Given the description of an element on the screen output the (x, y) to click on. 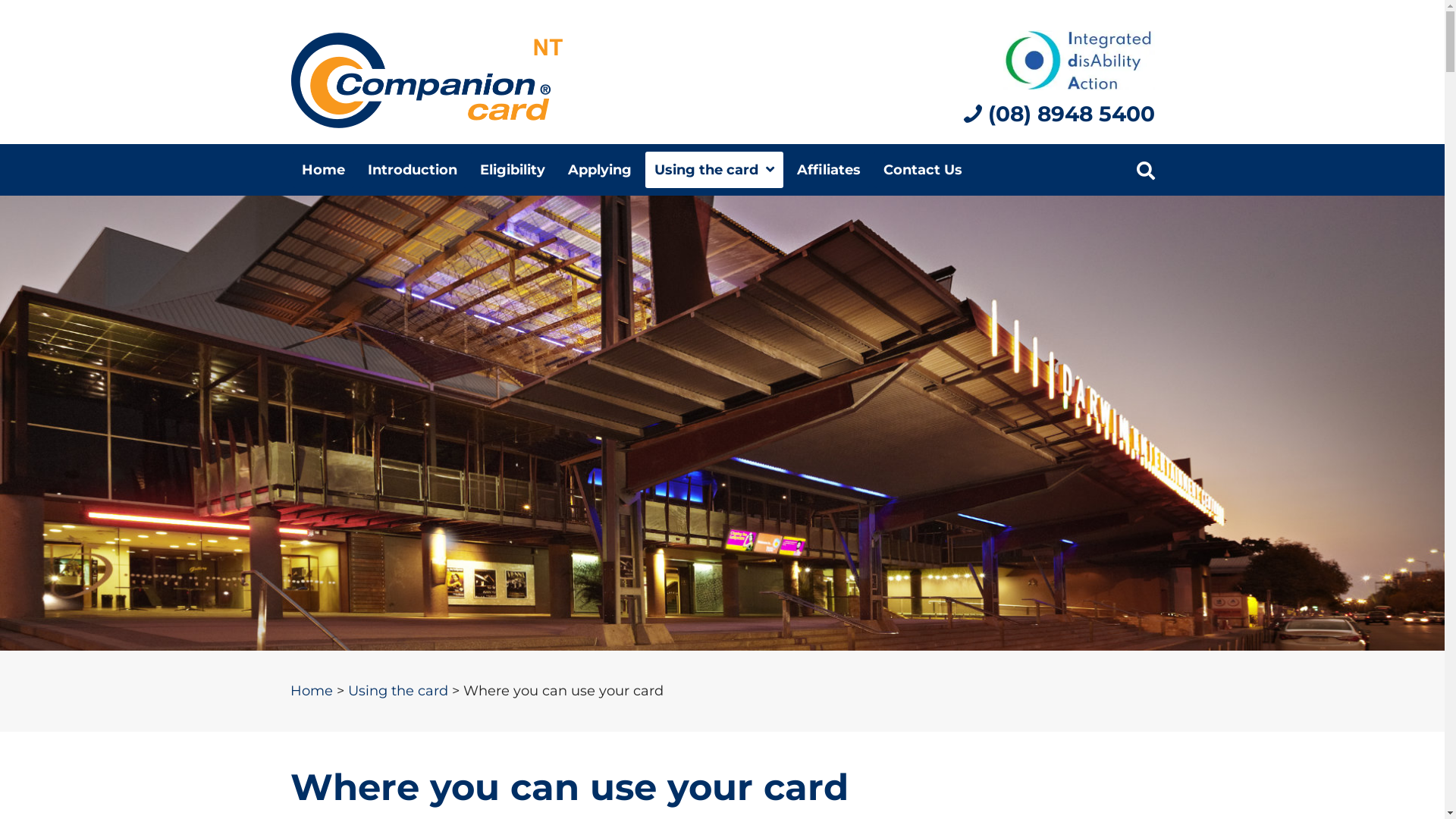
Home Element type: text (310, 690)
Using the card Element type: text (713, 169)
logo-ida Element type: hover (1078, 60)
Affiliates Element type: text (828, 169)
Phone
(08) 8948 5400 Element type: text (1057, 121)
Introduction Element type: text (411, 169)
Eligibility Element type: text (511, 169)
Contact Us Element type: text (921, 169)
Using the card Element type: text (397, 690)
Home Element type: text (323, 169)
Applying Element type: text (599, 169)
NT Companion Card Logo Element type: hover (425, 79)
